Given the description of an element on the screen output the (x, y) to click on. 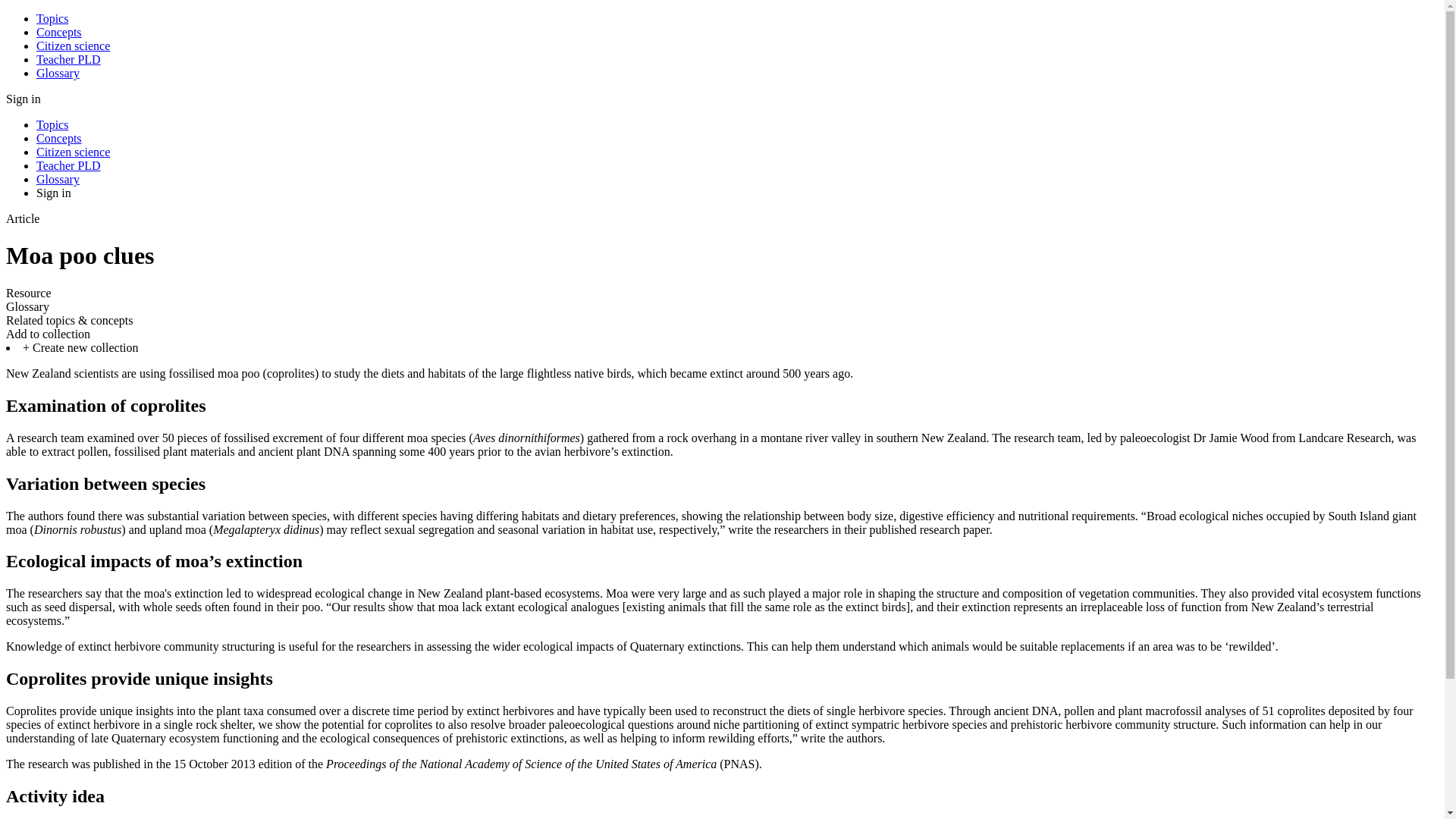
Glossary (58, 178)
Sign in (53, 192)
Teacher PLD (68, 164)
Teacher PLD (68, 59)
Concepts (58, 31)
Citizen science projects with curriculum links (73, 45)
Sign in (22, 98)
Science terms and definitions (58, 72)
